Given the description of an element on the screen output the (x, y) to click on. 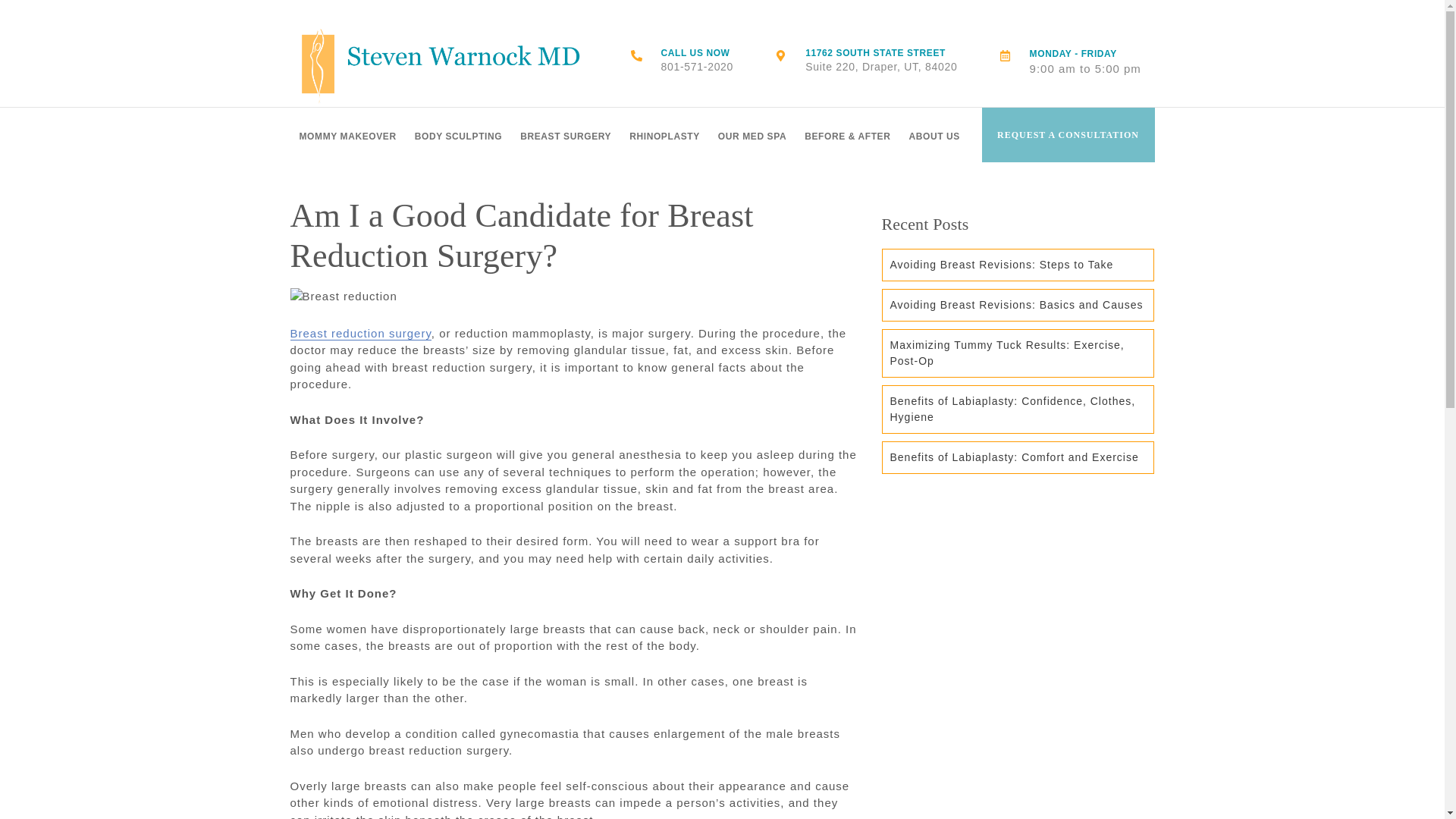
ABOUT US (933, 134)
MOMMY MAKEOVER (865, 60)
OUR MED SPA (346, 134)
BREAST SURGERY (681, 60)
logo-754x226 copy (751, 134)
RHINOPLASTY (565, 134)
BODY SCULPTING (440, 61)
